Given the description of an element on the screen output the (x, y) to click on. 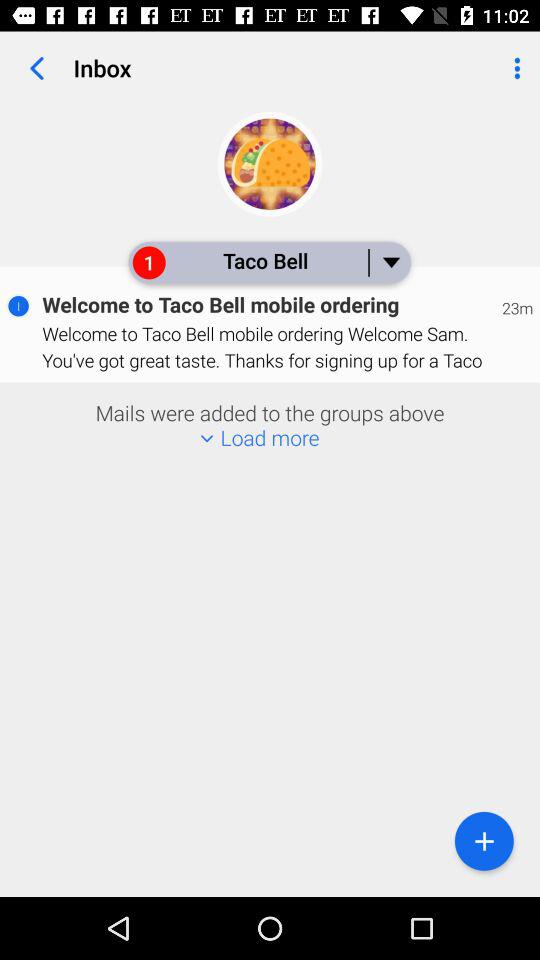
turn off item to the left of the inbox item (36, 68)
